Given the description of an element on the screen output the (x, y) to click on. 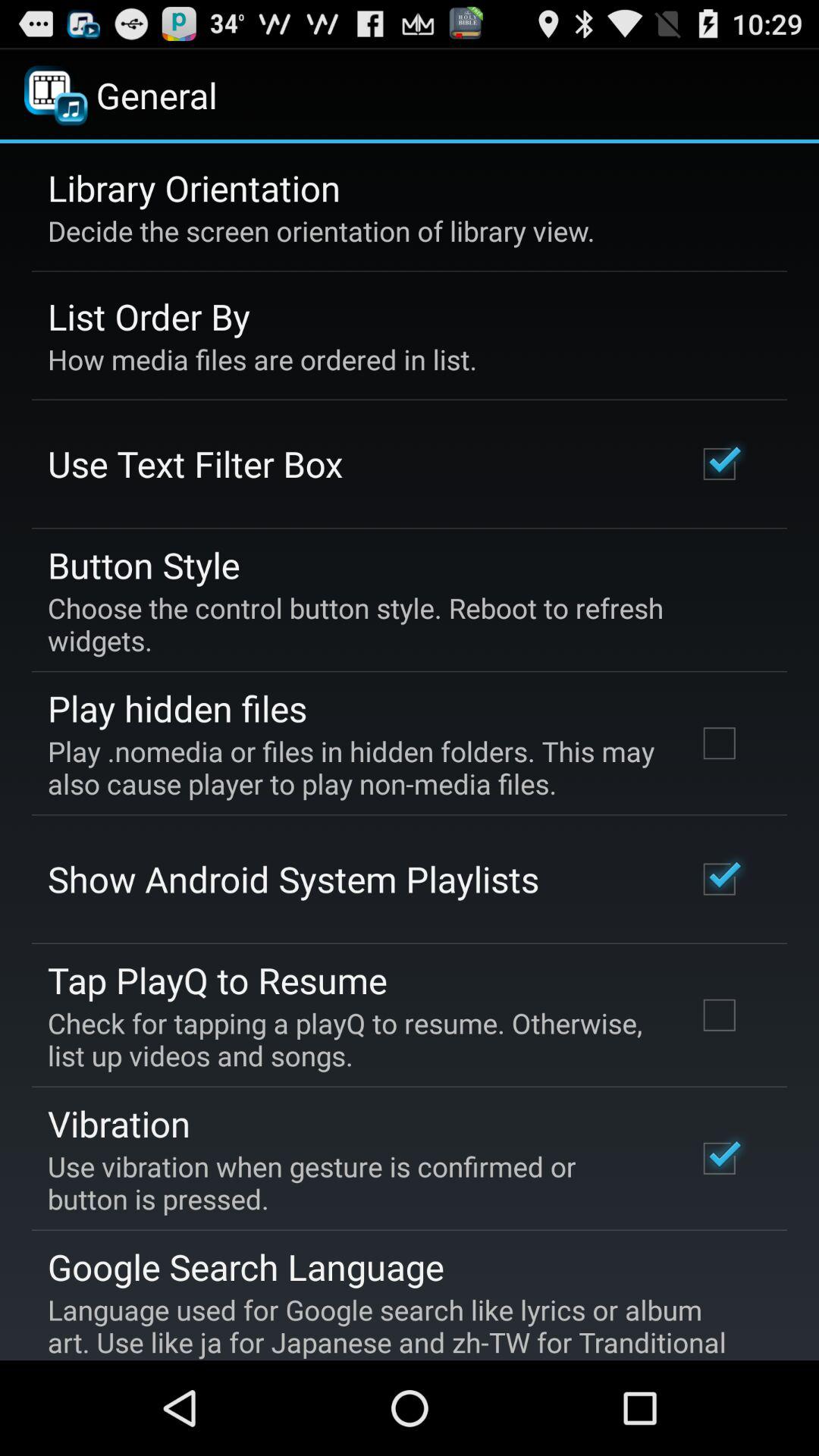
turn on choose the control item (399, 624)
